Given the description of an element on the screen output the (x, y) to click on. 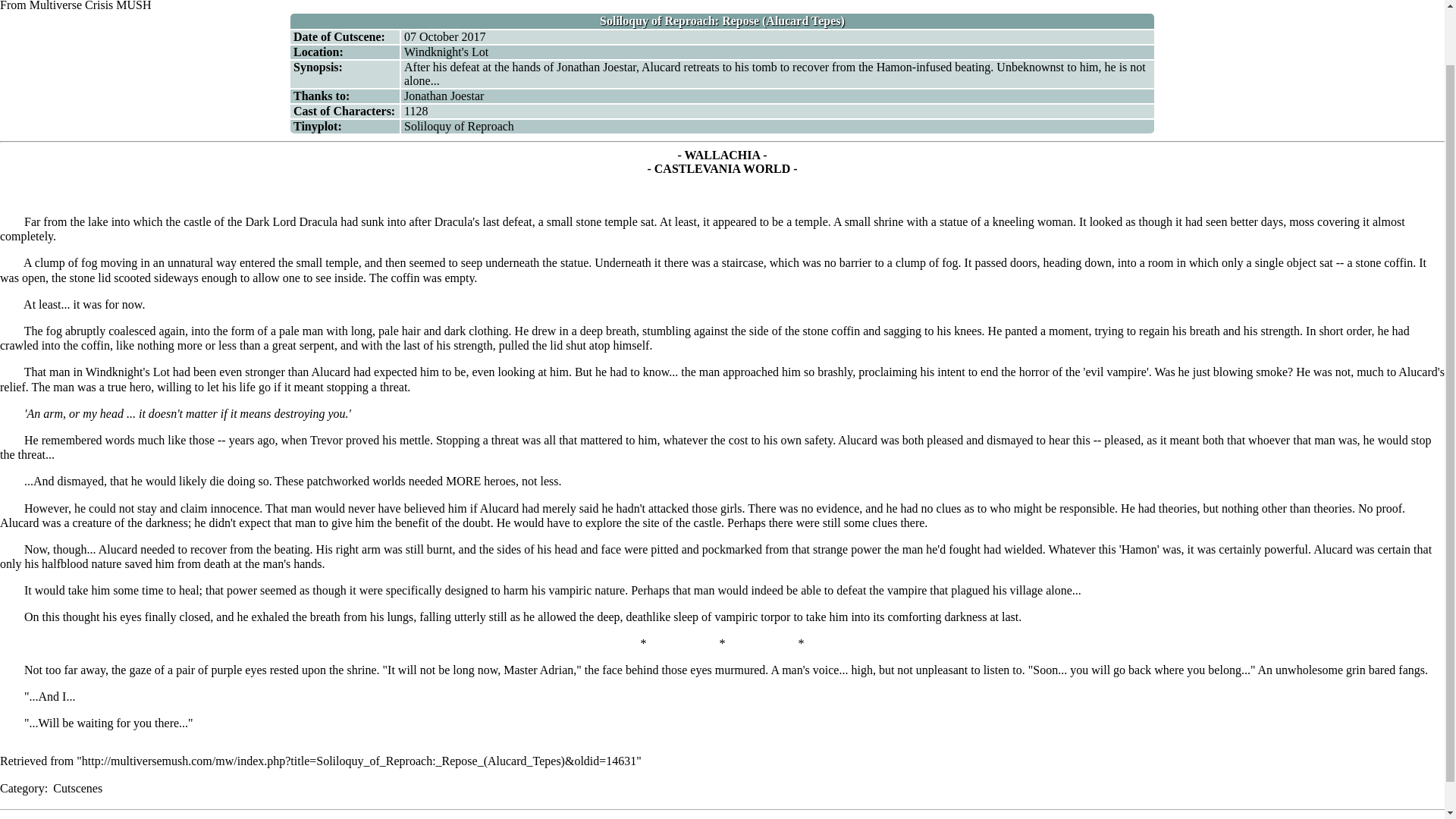
Soliloquy of Reproach (458, 125)
Cutscenes (76, 788)
Category (22, 788)
Special:Categories (22, 788)
Windknight's Lot (445, 51)
Soliloquy of Reproach (458, 125)
